Given the description of an element on the screen output the (x, y) to click on. 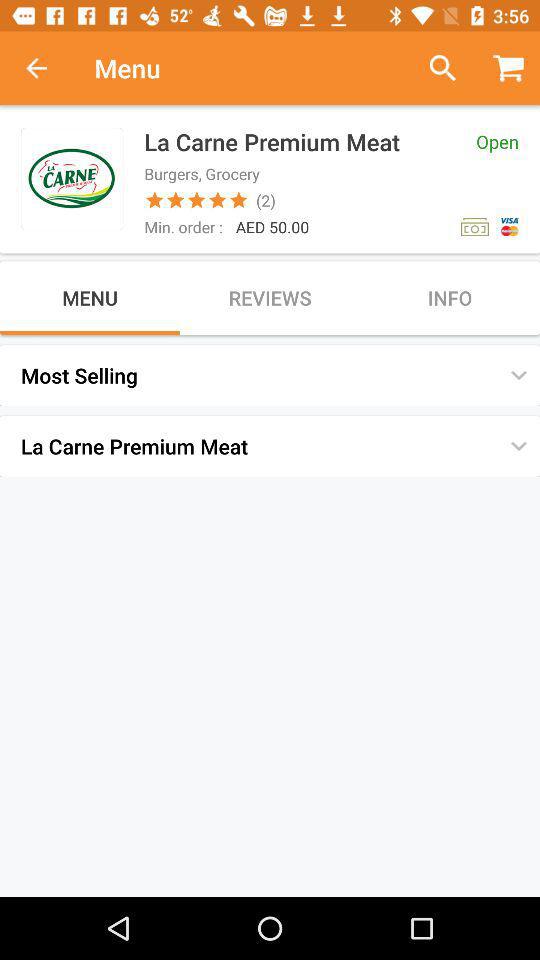
choose the item next to menu (434, 68)
